Given the description of an element on the screen output the (x, y) to click on. 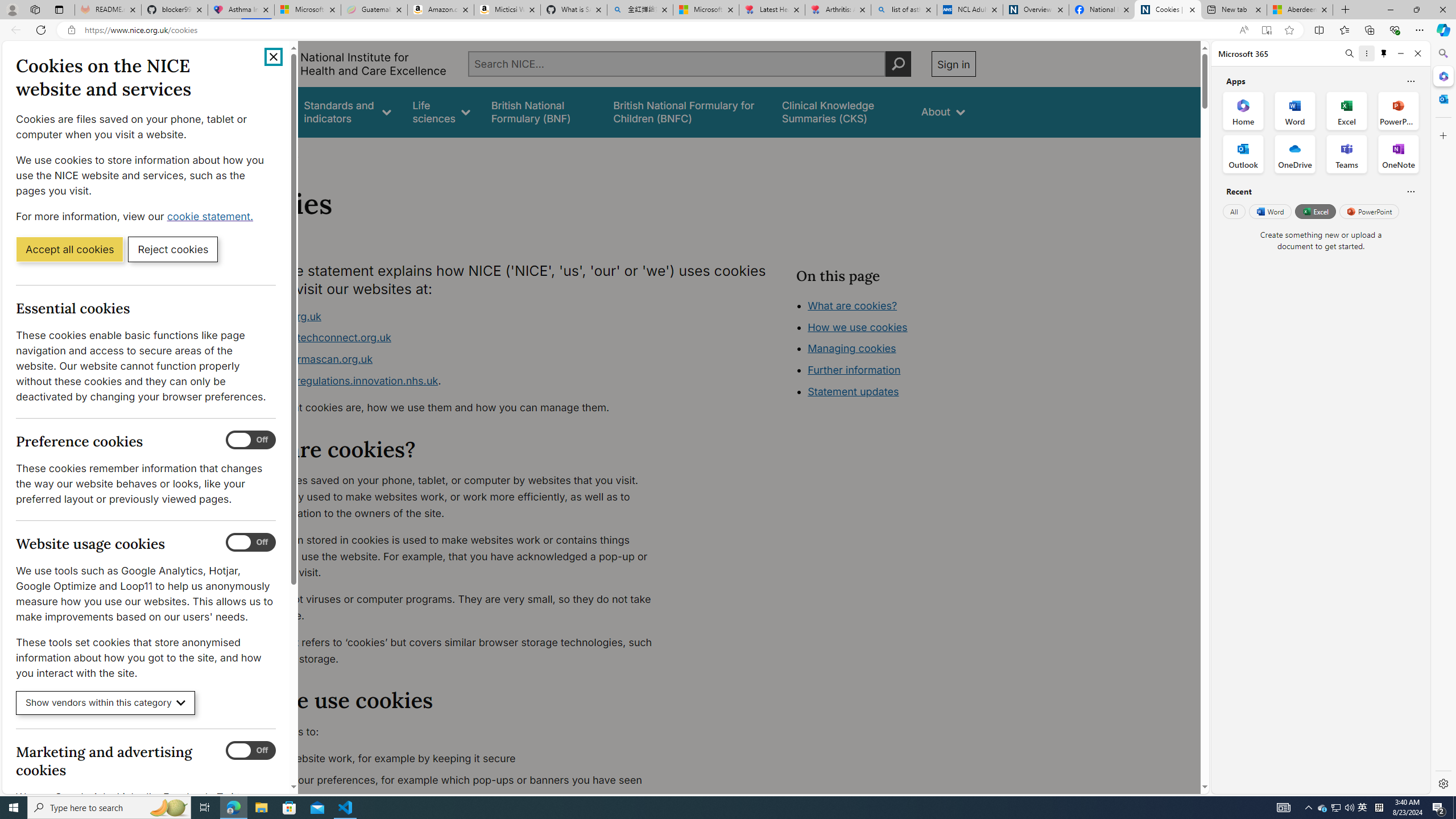
www.healthtechconnect.org.uk (314, 337)
Life sciences (440, 111)
Reject cookies (173, 248)
www.digitalregulations.innovation.nhs.uk. (452, 380)
Life sciences (440, 111)
Marketing and advertising cookies (250, 750)
All (1233, 210)
